Given the description of an element on the screen output the (x, y) to click on. 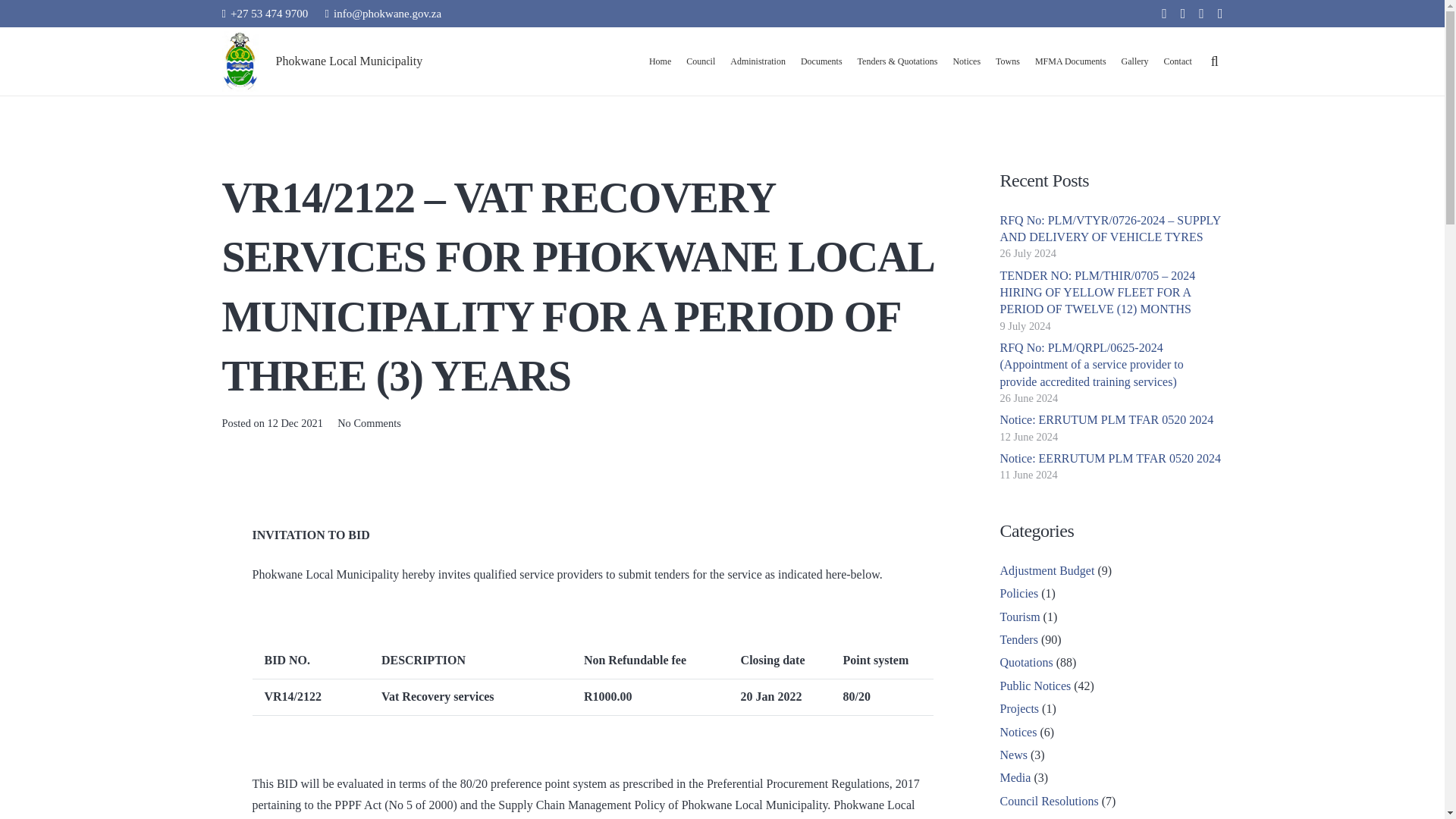
Phokwane Local Municipality (349, 60)
No Comments (369, 422)
Administration (757, 61)
